Given the description of an element on the screen output the (x, y) to click on. 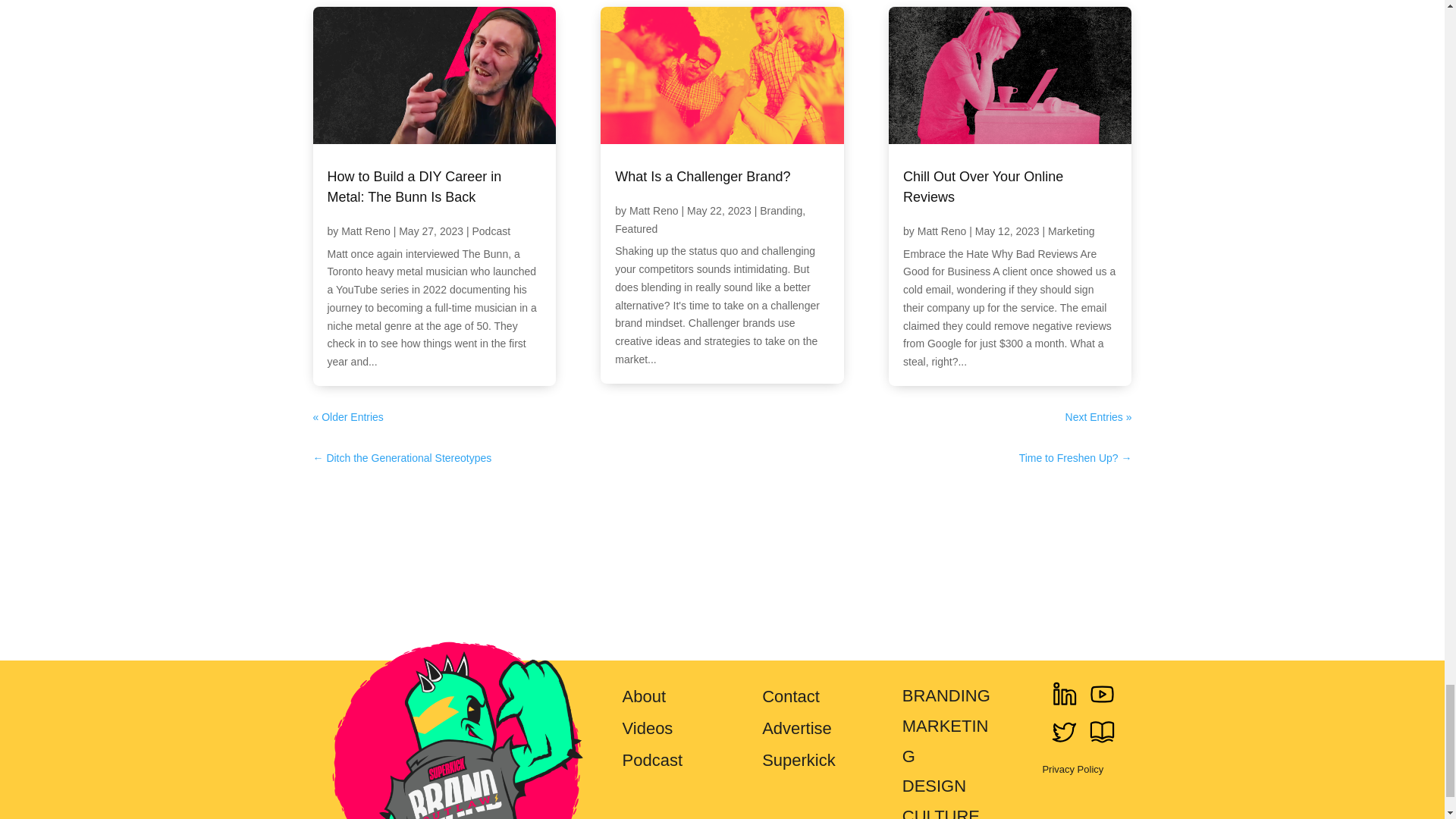
Posts by Matt Reno (365, 231)
